Given the description of an element on the screen output the (x, y) to click on. 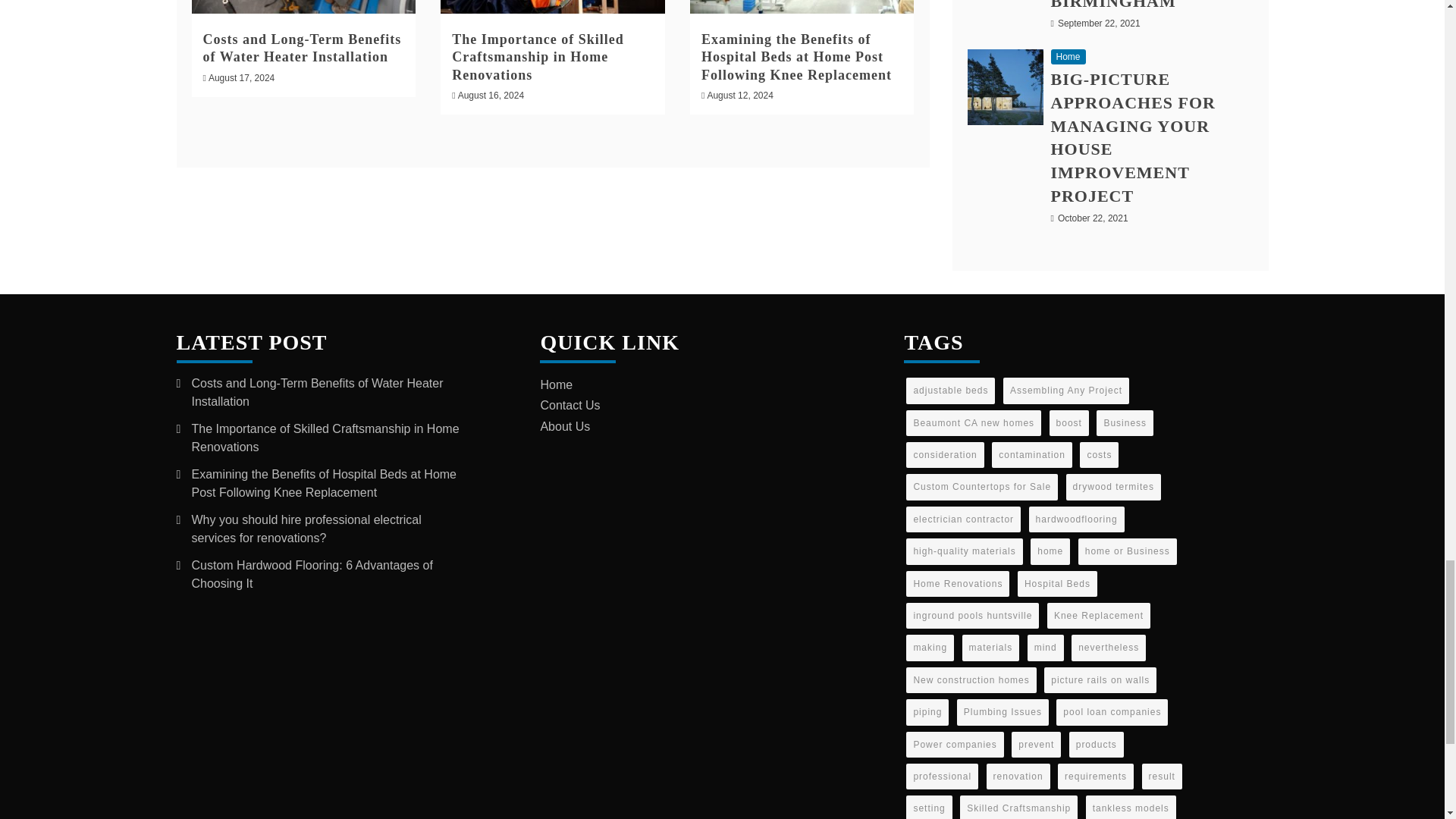
Costs and Long-Term Benefits of Water Heater Installation (302, 47)
August 16, 2024 (491, 95)
August 17, 2024 (241, 77)
August 12, 2024 (739, 95)
The Importance of Skilled Craftsmanship in Home Renovations (537, 56)
